Given the description of an element on the screen output the (x, y) to click on. 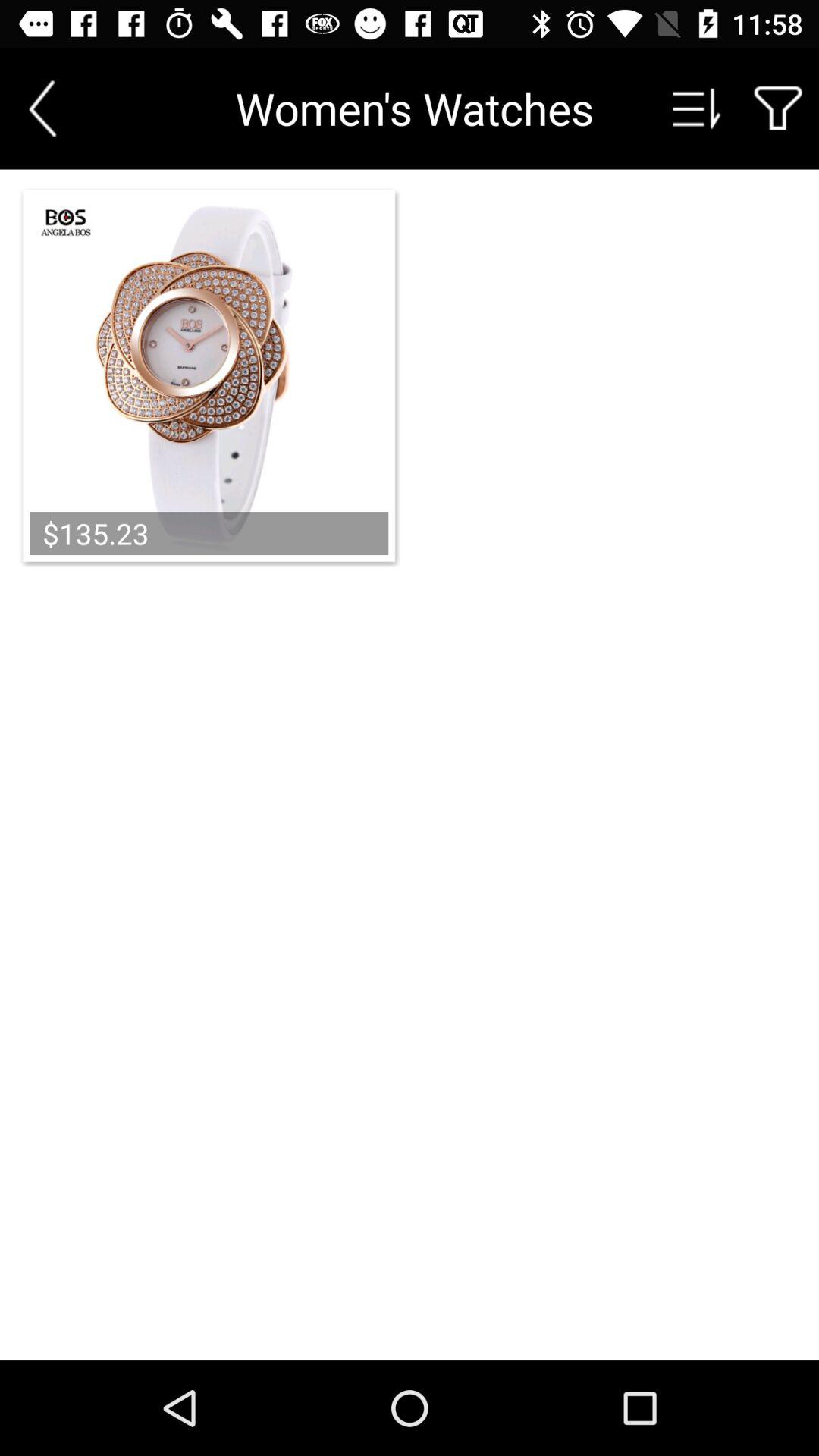
go back (42, 108)
